Given the description of an element on the screen output the (x, y) to click on. 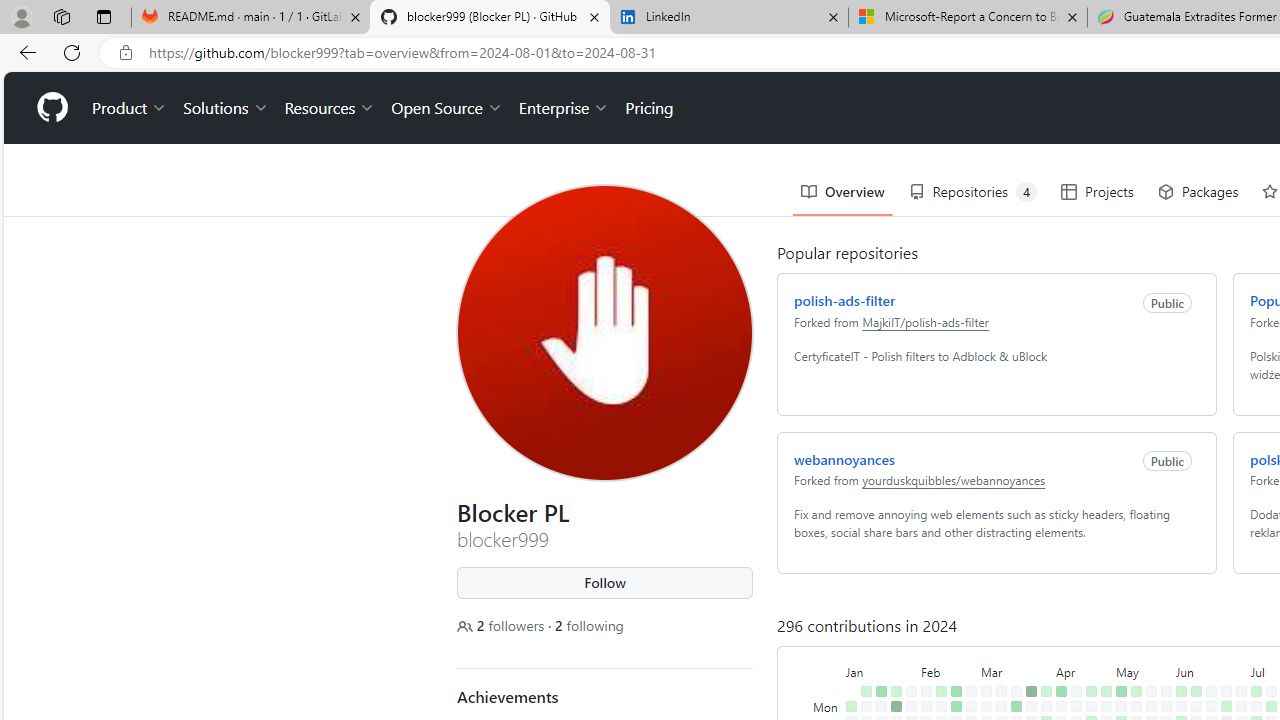
No contributions on May 27th. (1166, 706)
No contributions on April 8th. (1061, 706)
2 contributions on July 15th. (1271, 706)
Packages (1197, 192)
No contributions on February 26th. (971, 706)
No contributions on June 23rd. (1226, 691)
2 following (589, 625)
2 contributions on January 21st. (896, 691)
Product (130, 107)
Achievements (507, 696)
Follow (604, 583)
2 contributions on April 21st. (1090, 691)
Open Source (446, 107)
No contributions on January 8th. (866, 706)
No contributions on April 29th. (1106, 706)
